Given the description of an element on the screen output the (x, y) to click on. 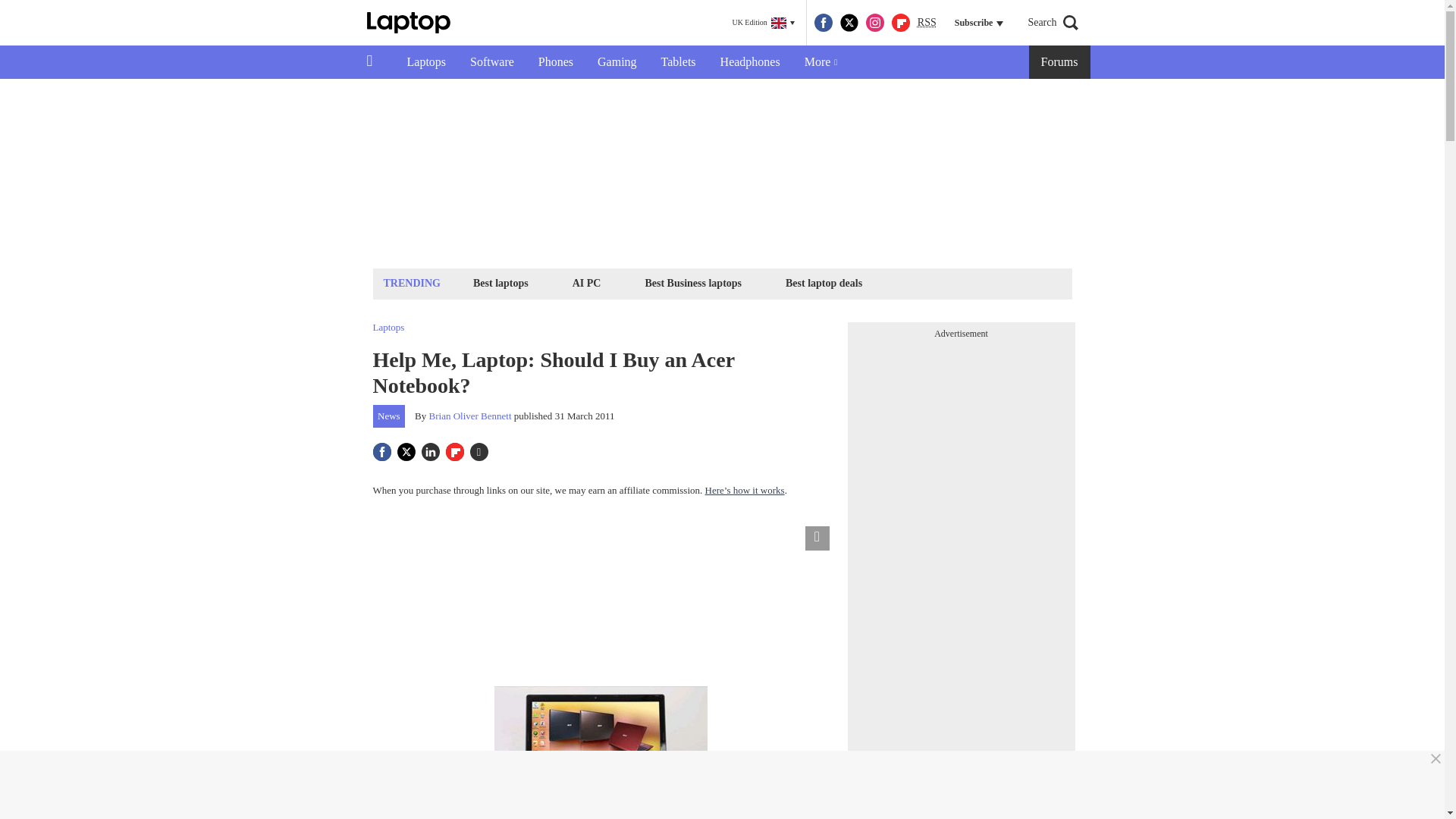
UK Edition (762, 22)
Tablets (678, 61)
Really Simple Syndication (926, 21)
Software (491, 61)
Laptops (426, 61)
Best laptop deals (823, 282)
AI PC (587, 282)
Best laptops (500, 282)
Forums (1059, 61)
RSS (926, 22)
Phones (555, 61)
